Given the description of an element on the screen output the (x, y) to click on. 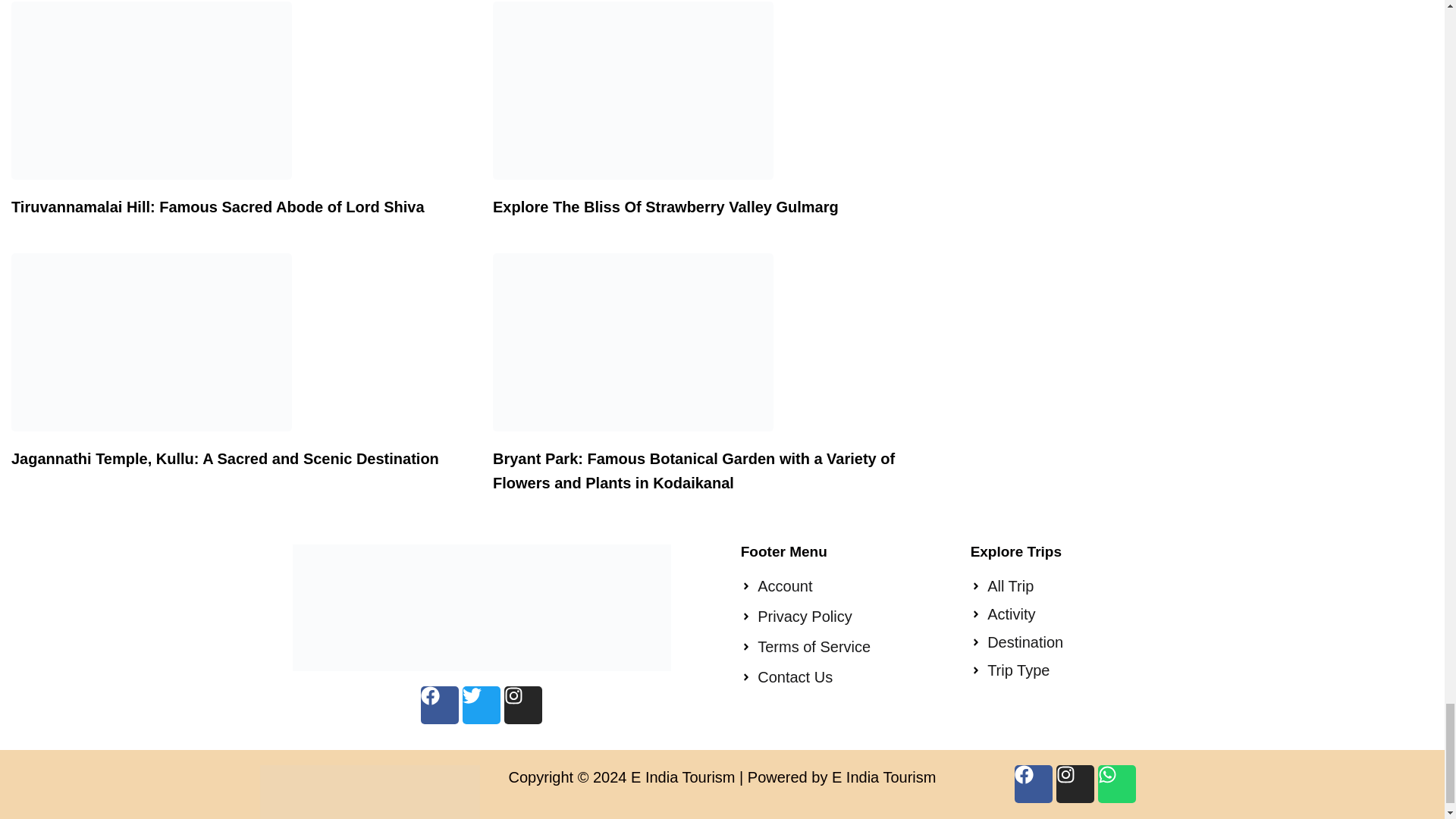
Tiruvannamalai Hill: Famous Sacred Abode of Lord Shiva 11 (151, 90)
Explore The Bliss Of Strawberry Valley Gulmarg 12 (633, 90)
Jagannathi Temple, Kullu: A Sacred and Scenic Destination 13 (151, 342)
